Given the description of an element on the screen output the (x, y) to click on. 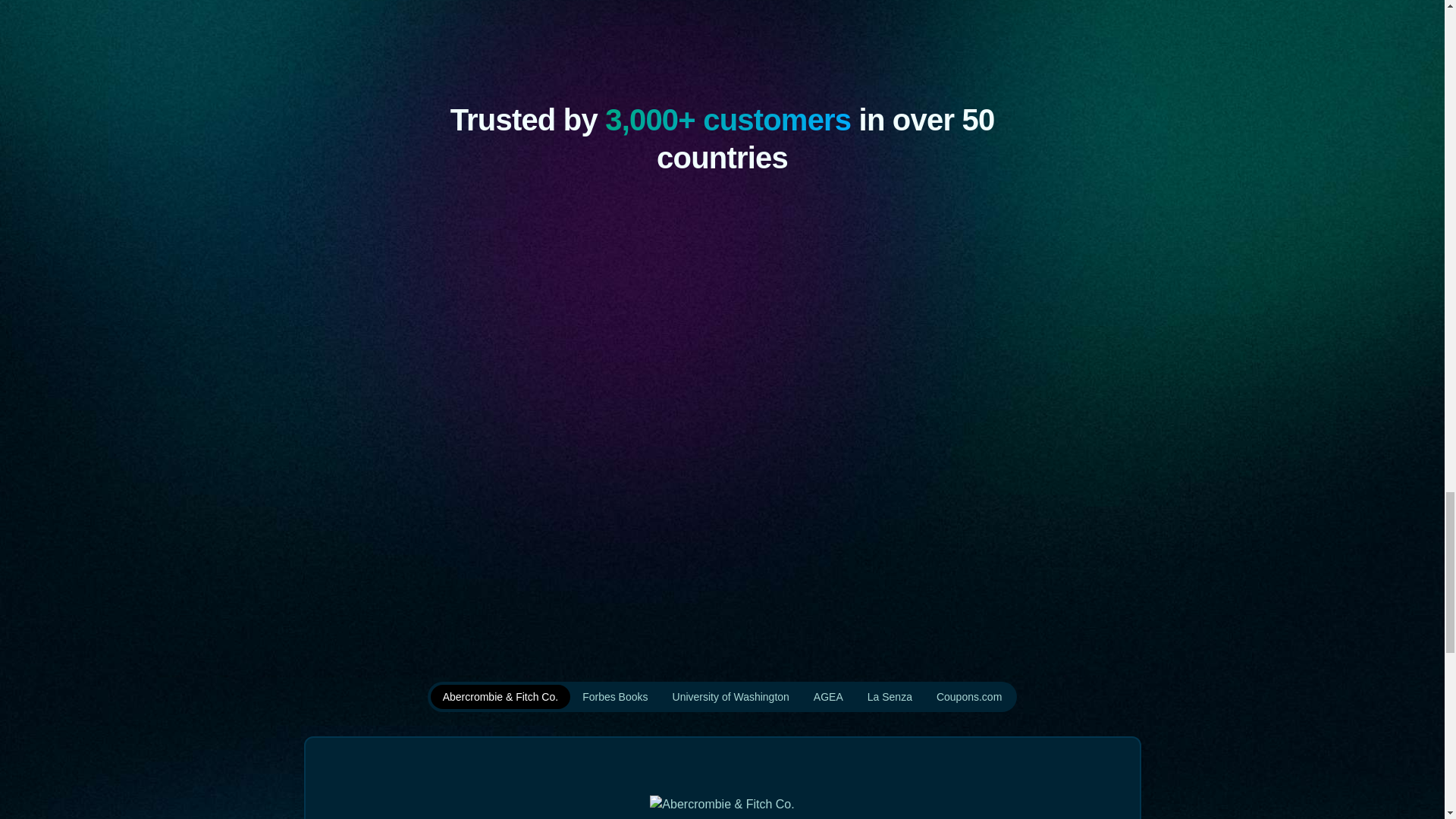
University of Washington (731, 696)
La Senza (890, 696)
AGEA (829, 696)
Coupons.com (968, 696)
Forbes Books (614, 696)
